Given the description of an element on the screen output the (x, y) to click on. 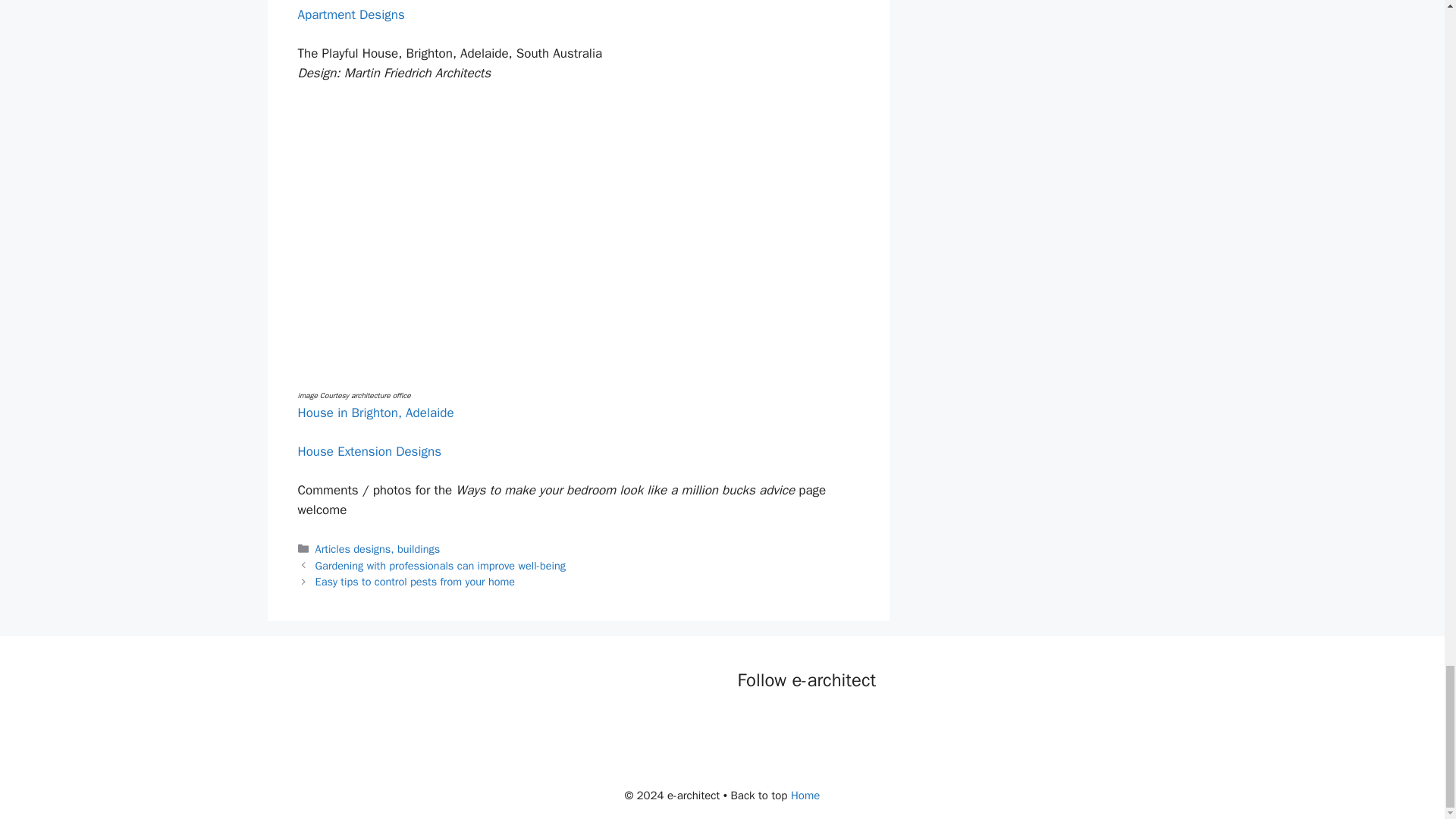
Apartment Designs (350, 14)
linkedin (811, 722)
instagram (842, 722)
twitter (781, 722)
facebook (749, 722)
